Given the description of an element on the screen output the (x, y) to click on. 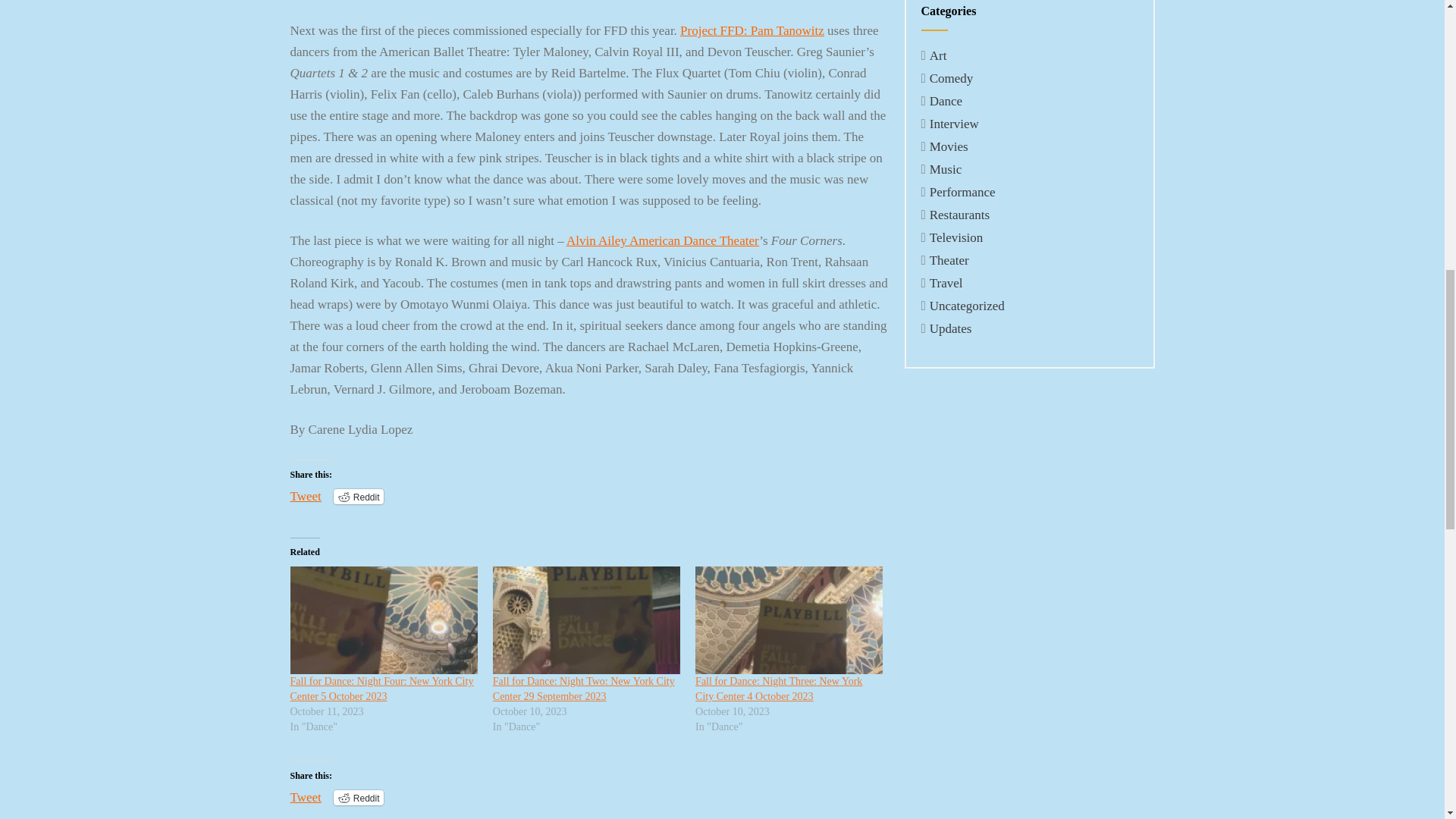
Television (957, 237)
Performance (962, 192)
Click to share on Reddit (358, 797)
Tweet (304, 495)
Movies (949, 146)
Project FFD: Pam Tanowitz (751, 30)
Reddit (358, 797)
